Given the description of an element on the screen output the (x, y) to click on. 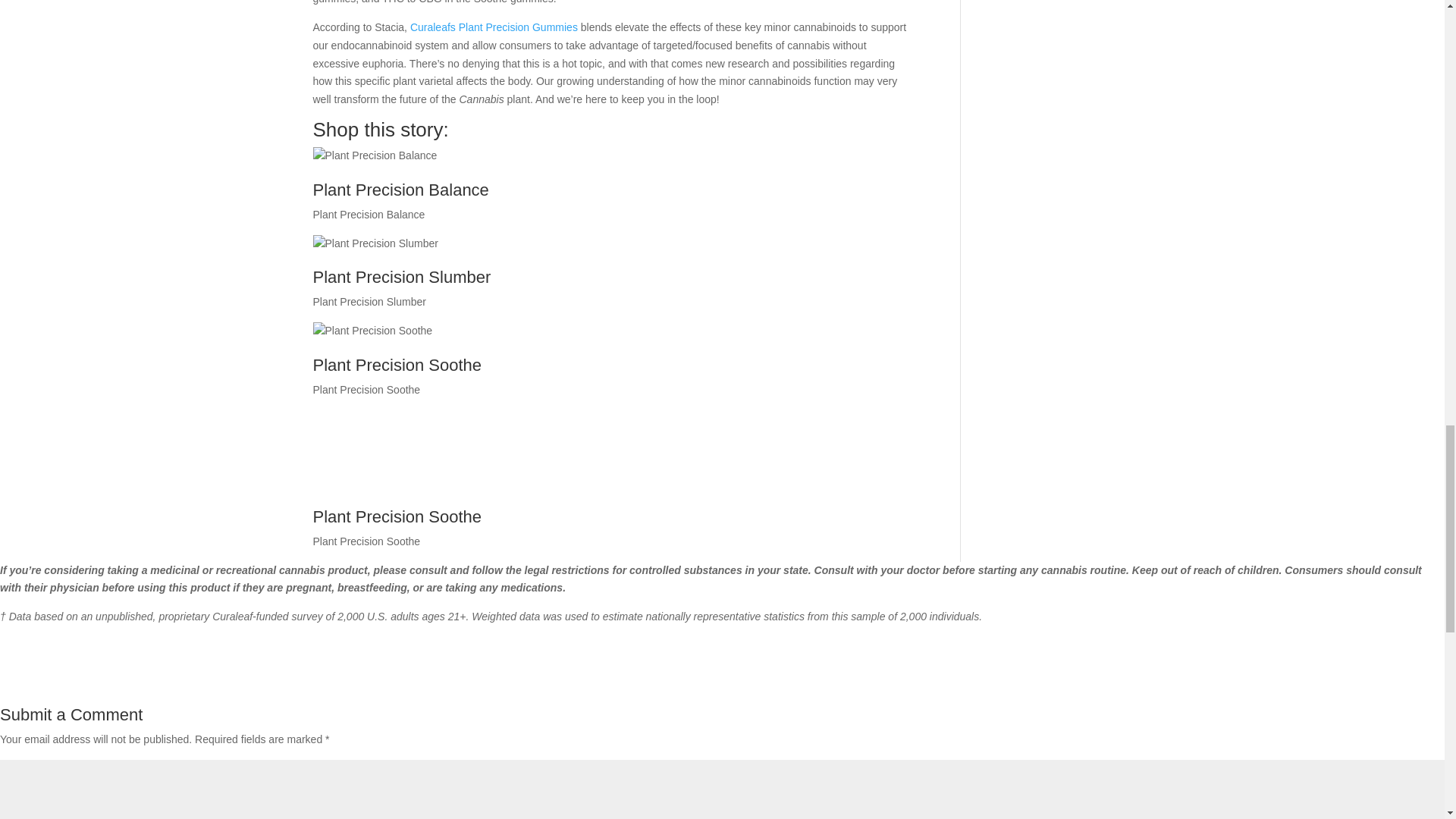
Plant Precision Slumber (614, 268)
Plant Precision Balance (374, 156)
Plant Precision Soothe (614, 356)
Plant Precision Soothe (372, 331)
Plant Precision Balance (614, 182)
Plant Precision Soothe (722, 508)
Curaleafs Plant Precision Gummies (494, 27)
Plant Precision Slumber (375, 244)
